Given the description of an element on the screen output the (x, y) to click on. 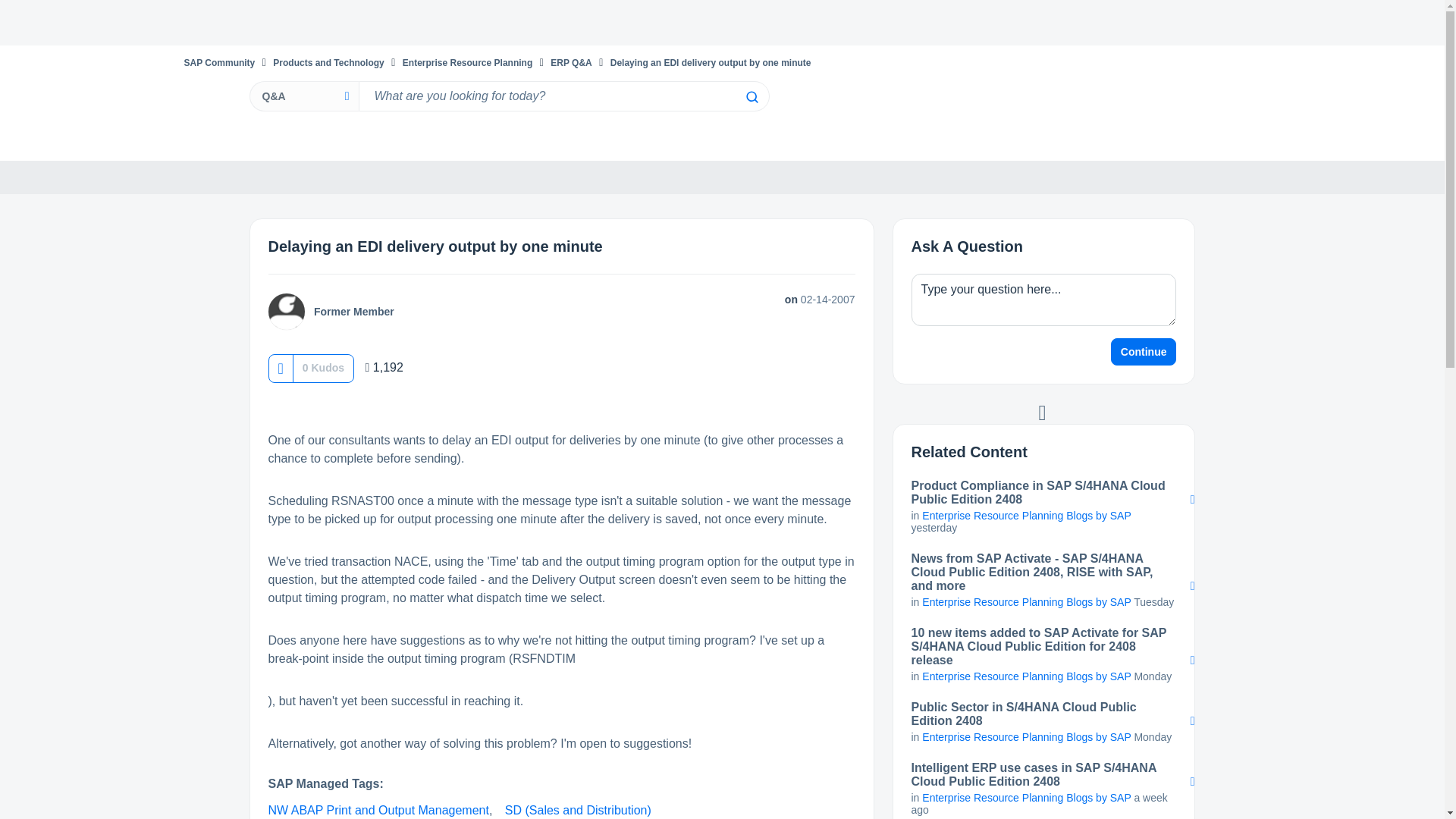
Search (750, 96)
Search (750, 96)
Search Granularity (303, 96)
The total number of kudos this post has received. (323, 367)
Search (750, 96)
NW ABAP Print and Output Management (378, 809)
SAP Community (218, 62)
Enterprise Resource Planning (467, 62)
Products and Technology (328, 62)
Continue (1143, 351)
Click here to give kudos to this post. (279, 367)
Search (563, 96)
